Given the description of an element on the screen output the (x, y) to click on. 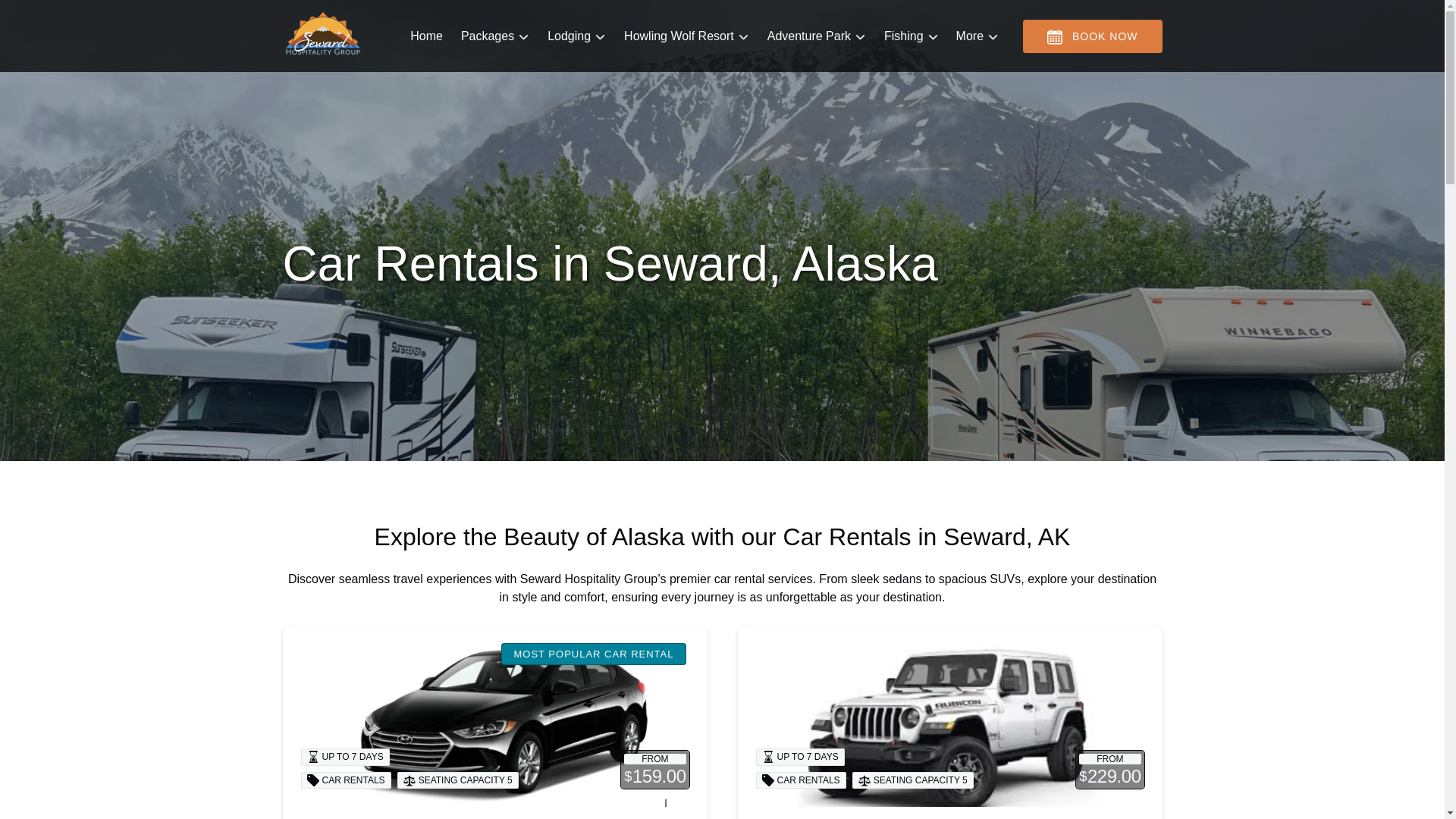
Open Packages Menu (499, 32)
Home (426, 35)
Howling Wolf Resort (686, 35)
Packages (494, 35)
Skip to content (47, 16)
Fishing (911, 35)
Open Lodging Menu (580, 32)
Open Howling Wolf Resort Menu (690, 32)
Open Adventure Park Menu (820, 32)
Skip to footer (42, 16)
Adventure Park (816, 35)
Skip to primary navigation (77, 16)
CALENDAR (1054, 37)
Lodging (576, 35)
